Given the description of an element on the screen output the (x, y) to click on. 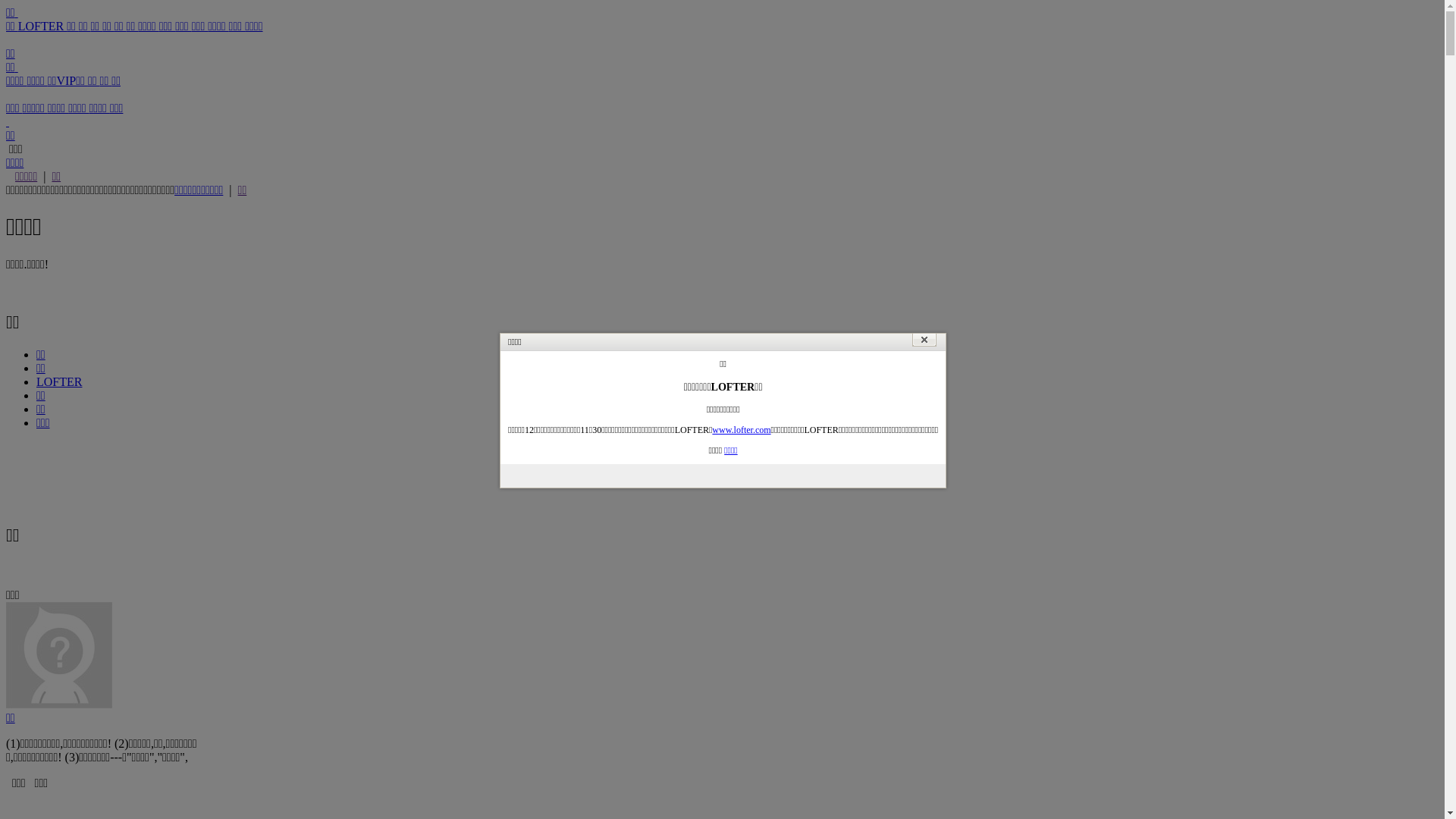
  Element type: text (7, 121)
LOFTER Element type: text (42, 25)
www.lofter.com Element type: text (741, 429)
LOFTER Element type: text (58, 381)
